Given the description of an element on the screen output the (x, y) to click on. 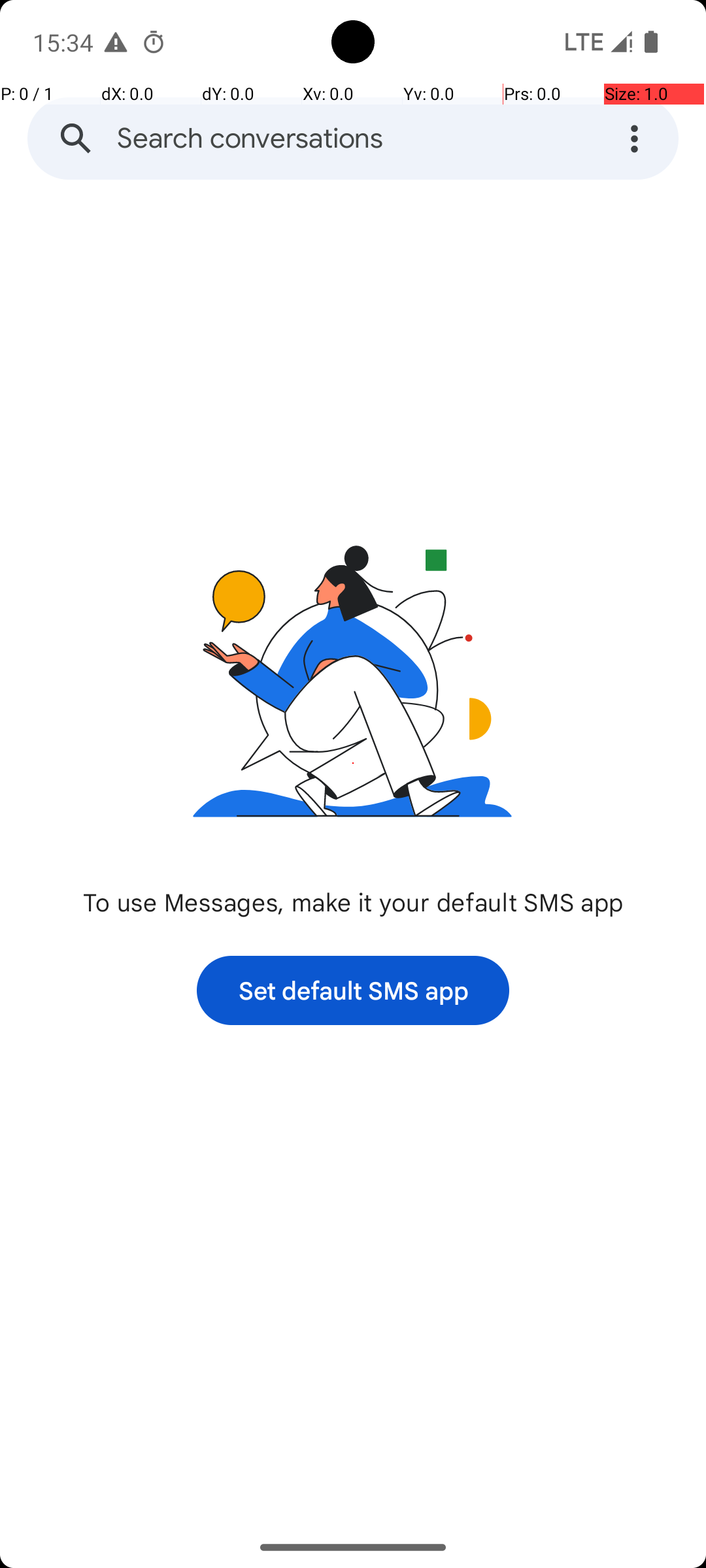
To use Messages, make it your default SMS app Element type: android.widget.TextView (353, 901)
Set default SMS app Element type: android.widget.Button (352, 990)
